Given the description of an element on the screen output the (x, y) to click on. 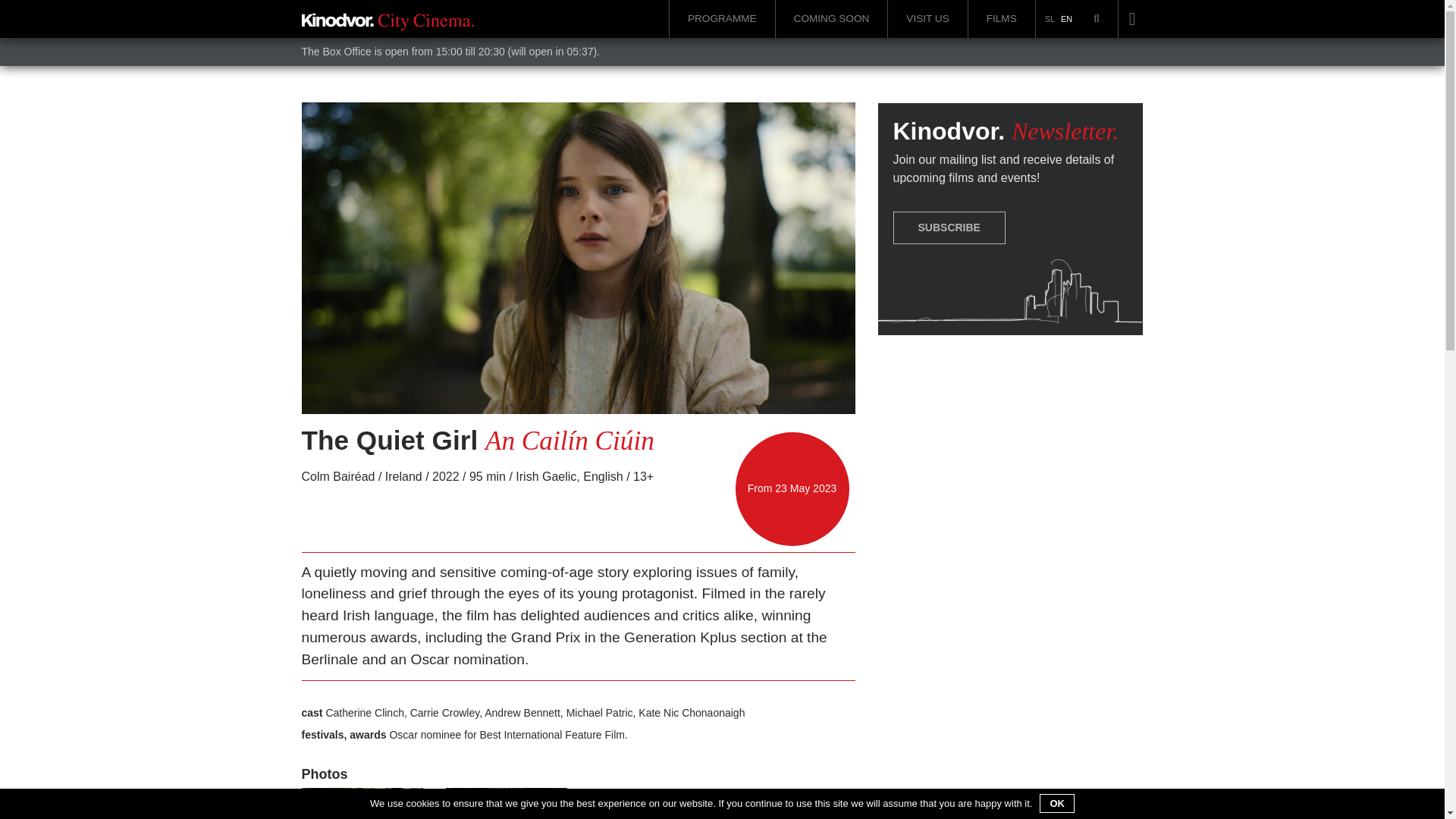
FILMS (1001, 18)
VISIT US (927, 18)
Coming soon (831, 18)
COMING SOON (831, 18)
Visit us (927, 18)
Programme (721, 18)
Films (1001, 18)
PROGRAMME (721, 18)
